Given the description of an element on the screen output the (x, y) to click on. 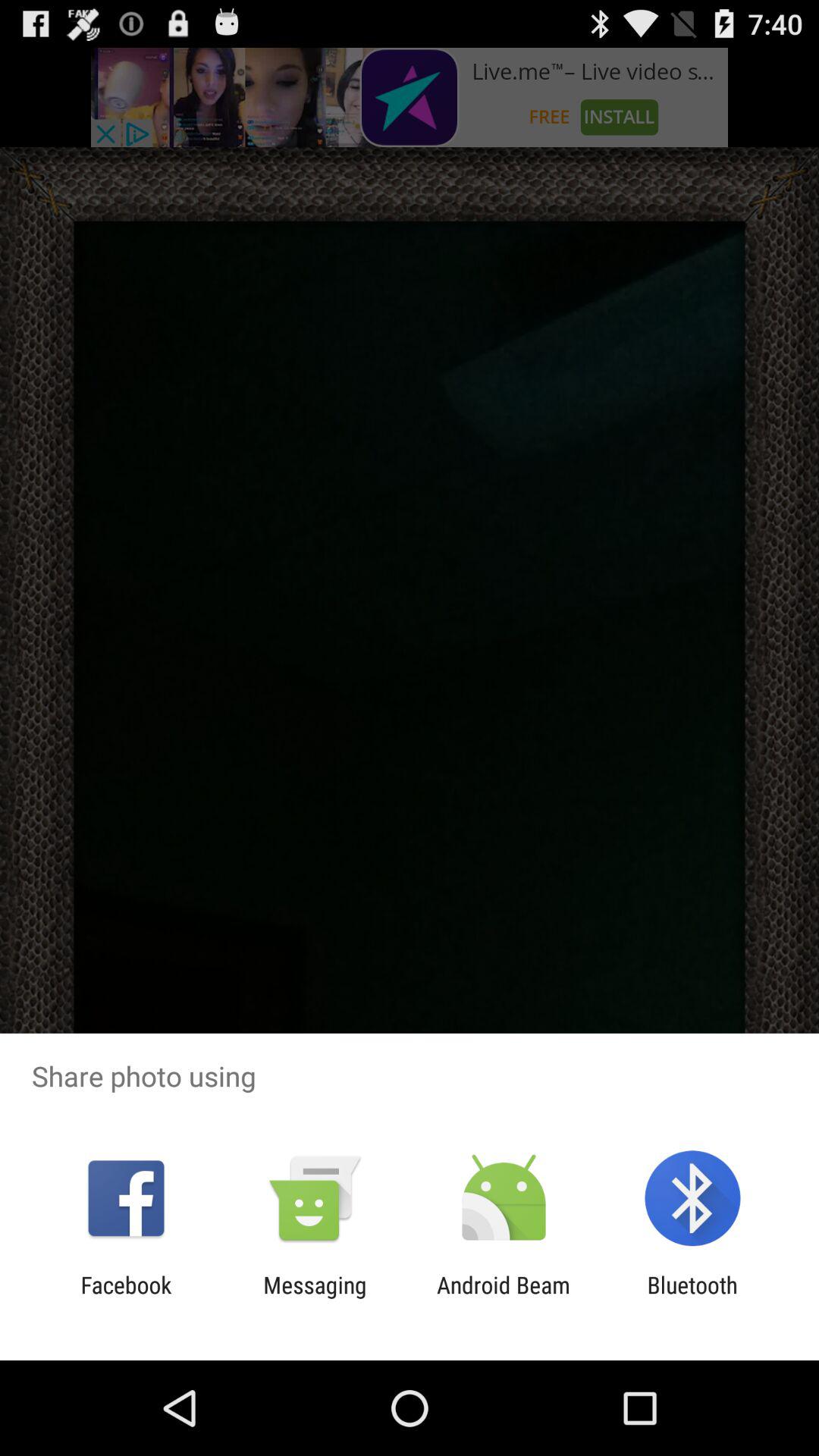
turn off the android beam app (503, 1298)
